Given the description of an element on the screen output the (x, y) to click on. 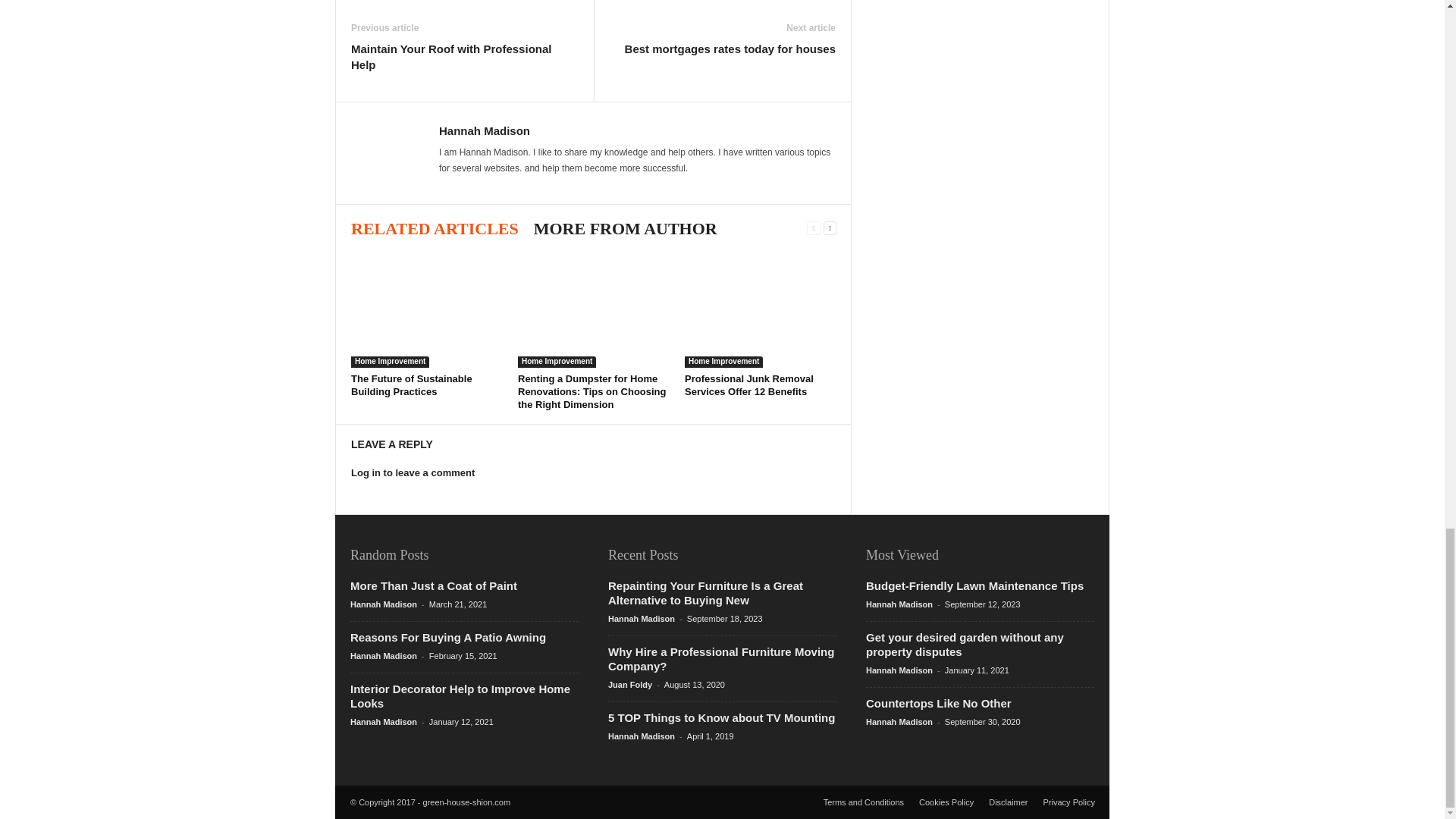
Maintain Your Roof with Professional Help (464, 56)
Hannah Madison (484, 130)
RELATED ARTICLES (434, 228)
MORE FROM AUTHOR (625, 228)
The Future of Sustainable Building Practices (410, 385)
The Future of Sustainable Building Practices (426, 310)
Best mortgages rates today for houses (729, 48)
